Given the description of an element on the screen output the (x, y) to click on. 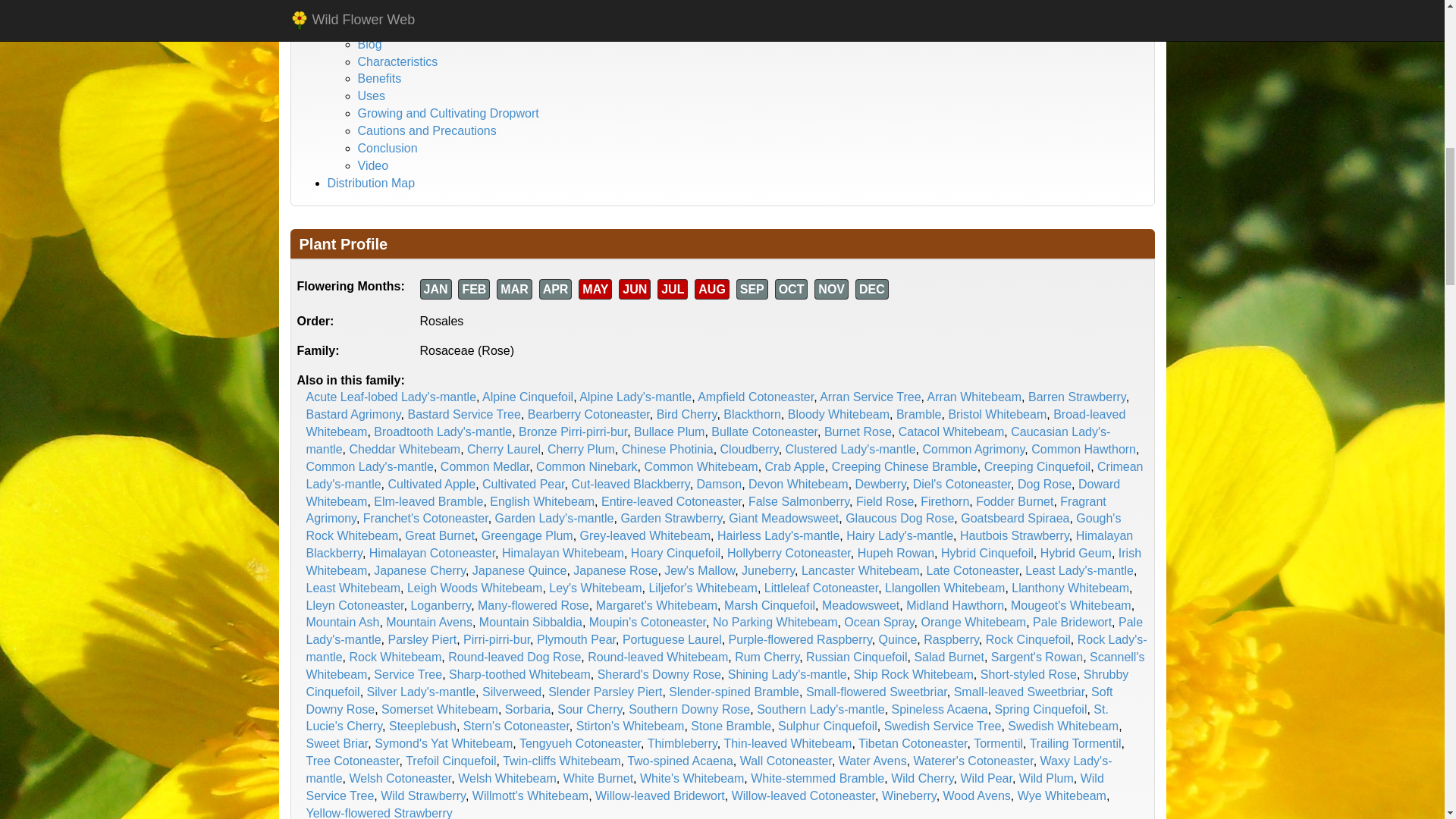
Bloody Whitebeam (838, 413)
Arran Service Tree (869, 396)
Alpine Cinquefoil (527, 396)
Acute Leaf-lobed Lady's-mantle (391, 396)
Benefits (379, 78)
Summary (383, 26)
Bastard Service Tree (463, 413)
Cautions and Precautions (427, 130)
Blackthorn (751, 413)
Growing and Cultivating Dropwort (448, 113)
